Given the description of an element on the screen output the (x, y) to click on. 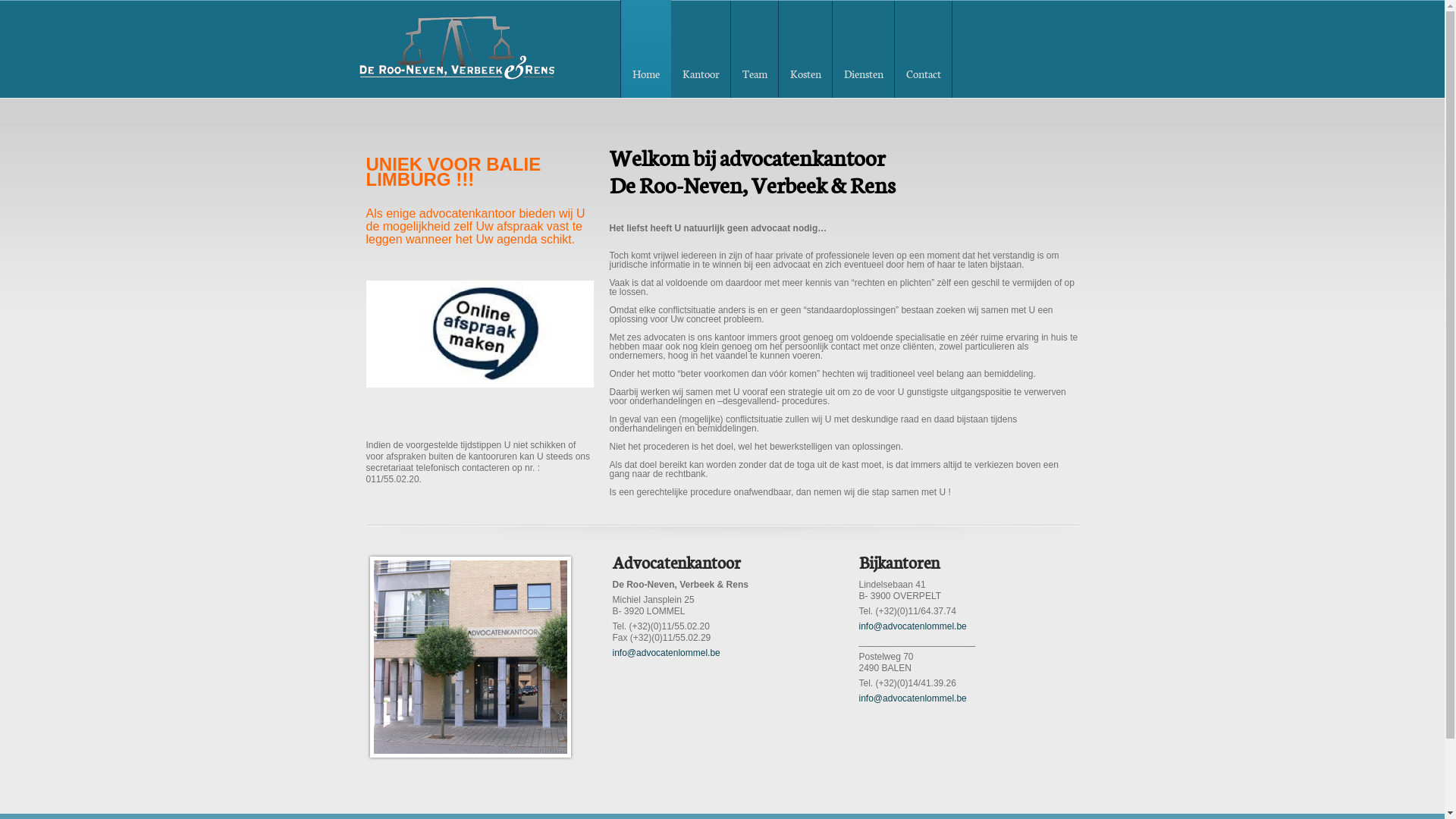
Home Element type: text (645, 48)
info@advocatenlommel.be Element type: text (912, 626)
Kosten Element type: text (804, 48)
info@advocatenlommel.be Element type: text (912, 698)
Contact Element type: text (923, 48)
Team Element type: text (754, 48)
Boek zelf uw afspraak Element type: hover (479, 333)
info@advocatenlommel.be Element type: text (666, 652)
Diensten Element type: text (863, 48)
Kantoor Element type: text (700, 48)
